Given the description of an element on the screen output the (x, y) to click on. 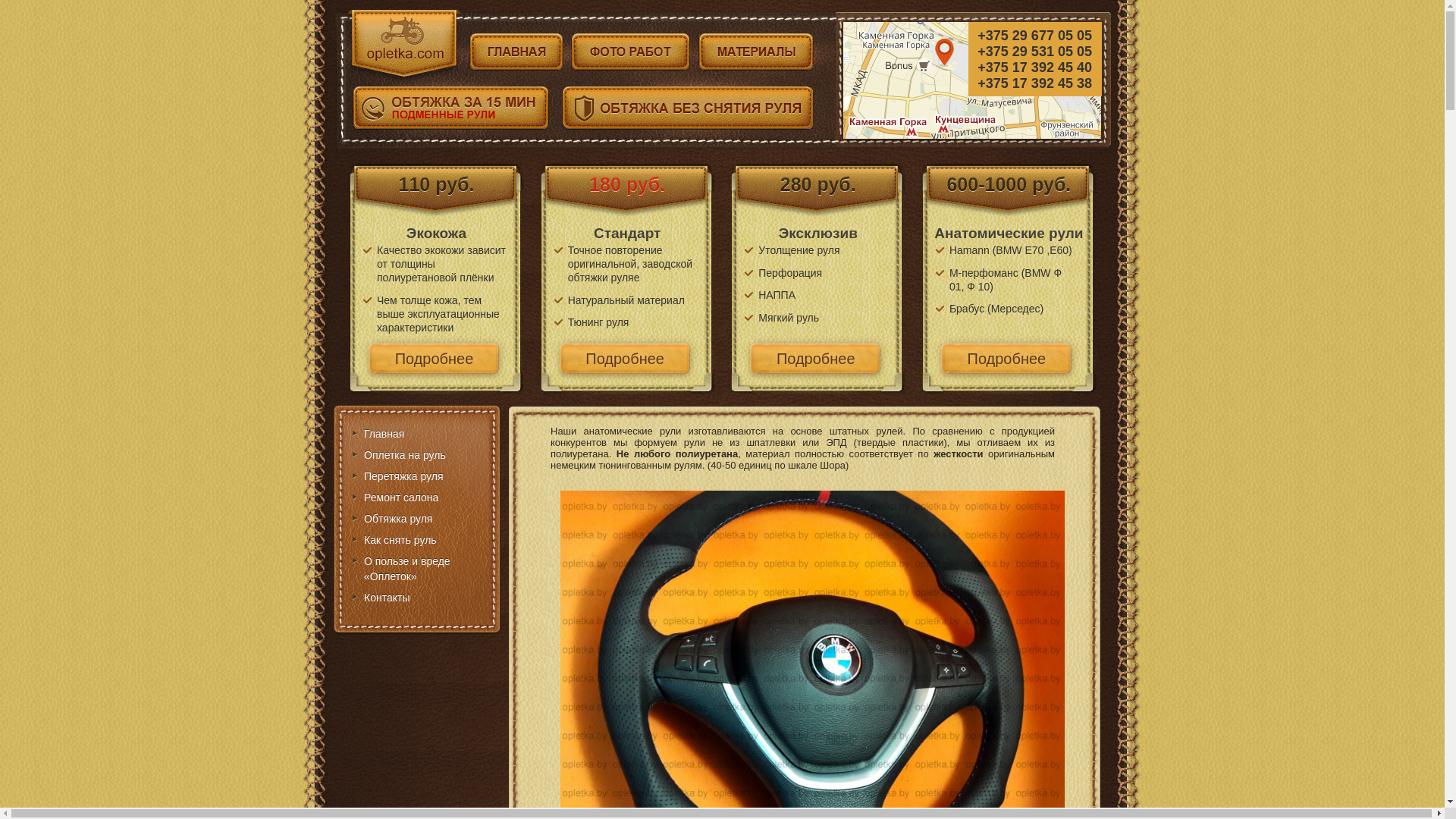
+375 29 677 05 05 Element type: text (1034, 35)
+375 17 392 45 40 Element type: text (1034, 67)
+375 17 392 45 38 Element type: text (1034, 83)
+375 29 531 05 05 Element type: text (1034, 51)
